Given the description of an element on the screen output the (x, y) to click on. 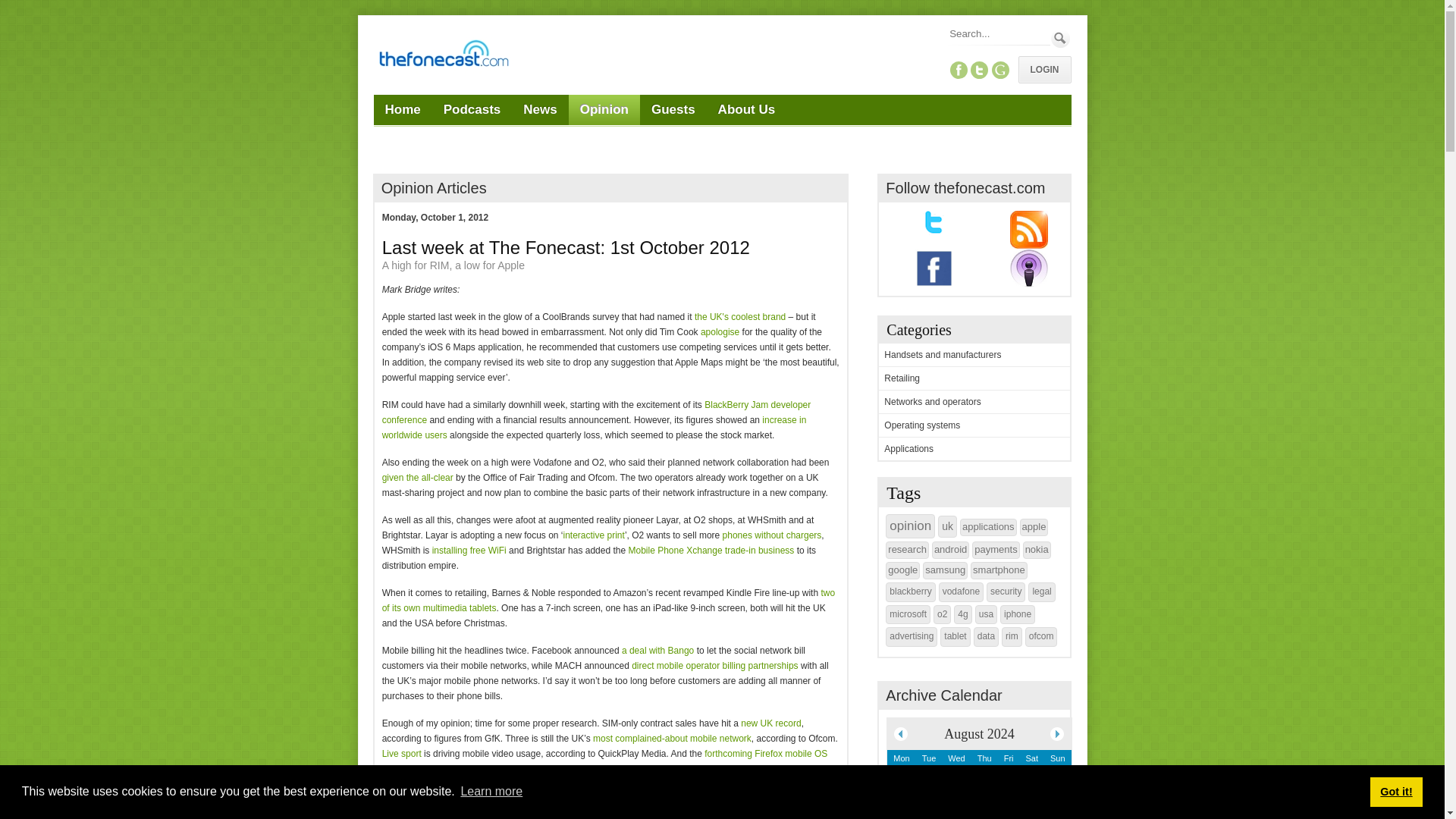
Twitter (979, 69)
given the all-clear (416, 477)
installing free WiFi (469, 550)
Got it! (1396, 791)
Retailing (901, 378)
Opinion (604, 110)
Clear search text (1036, 56)
increase in worldwide users (593, 427)
two of its own multimedia tablets (607, 600)
interactive print (593, 534)
Search (1060, 37)
Podcasts (472, 110)
forthcoming Firefox mobile OS (765, 753)
Google (1000, 69)
phones without chargers (772, 534)
